Given the description of an element on the screen output the (x, y) to click on. 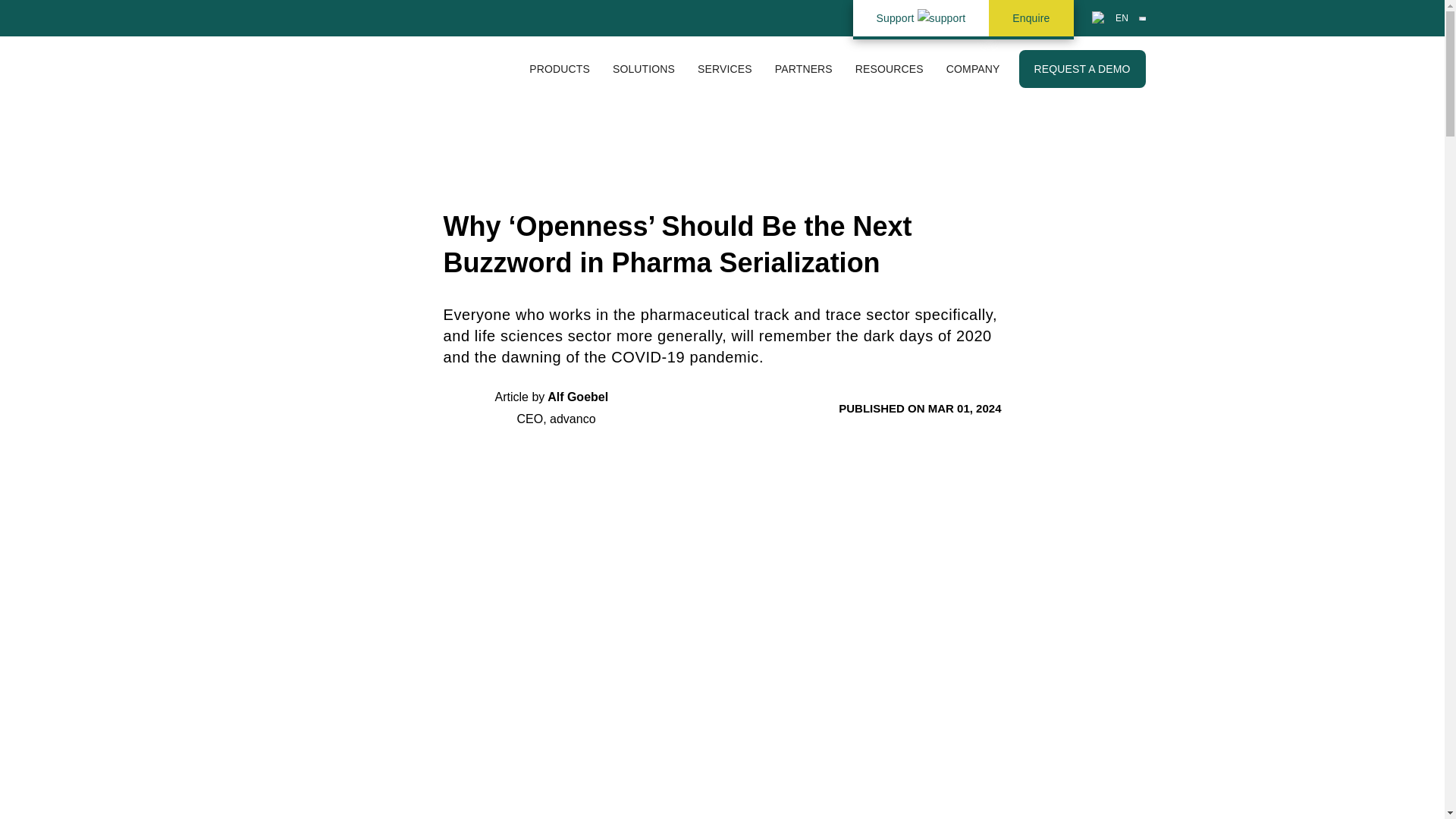
PARTNERS (803, 68)
Enquire (1030, 18)
RESOURCES (889, 68)
PRODUCTS (559, 68)
SERVICES (723, 68)
Support (921, 18)
COMPANY (972, 68)
SOLUTIONS (643, 68)
